Given the description of an element on the screen output the (x, y) to click on. 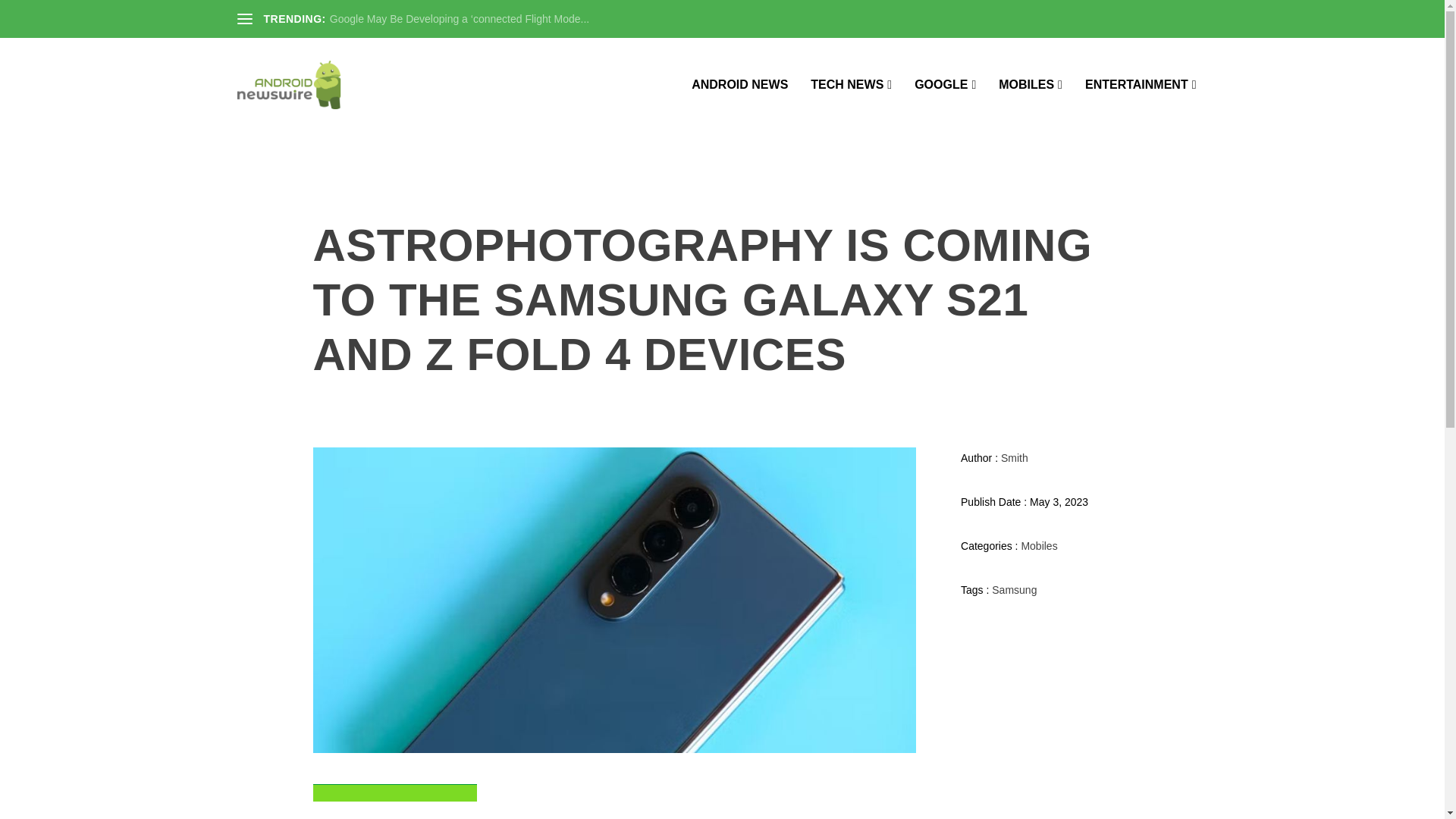
ENTERTAINMENT (1140, 104)
Mobiles (1038, 545)
ANDROID NEWS (739, 104)
GOOGLE (944, 104)
TECH NEWS (850, 104)
Smith (1014, 458)
Samsung (1013, 589)
MOBILES (1030, 104)
